Given the description of an element on the screen output the (x, y) to click on. 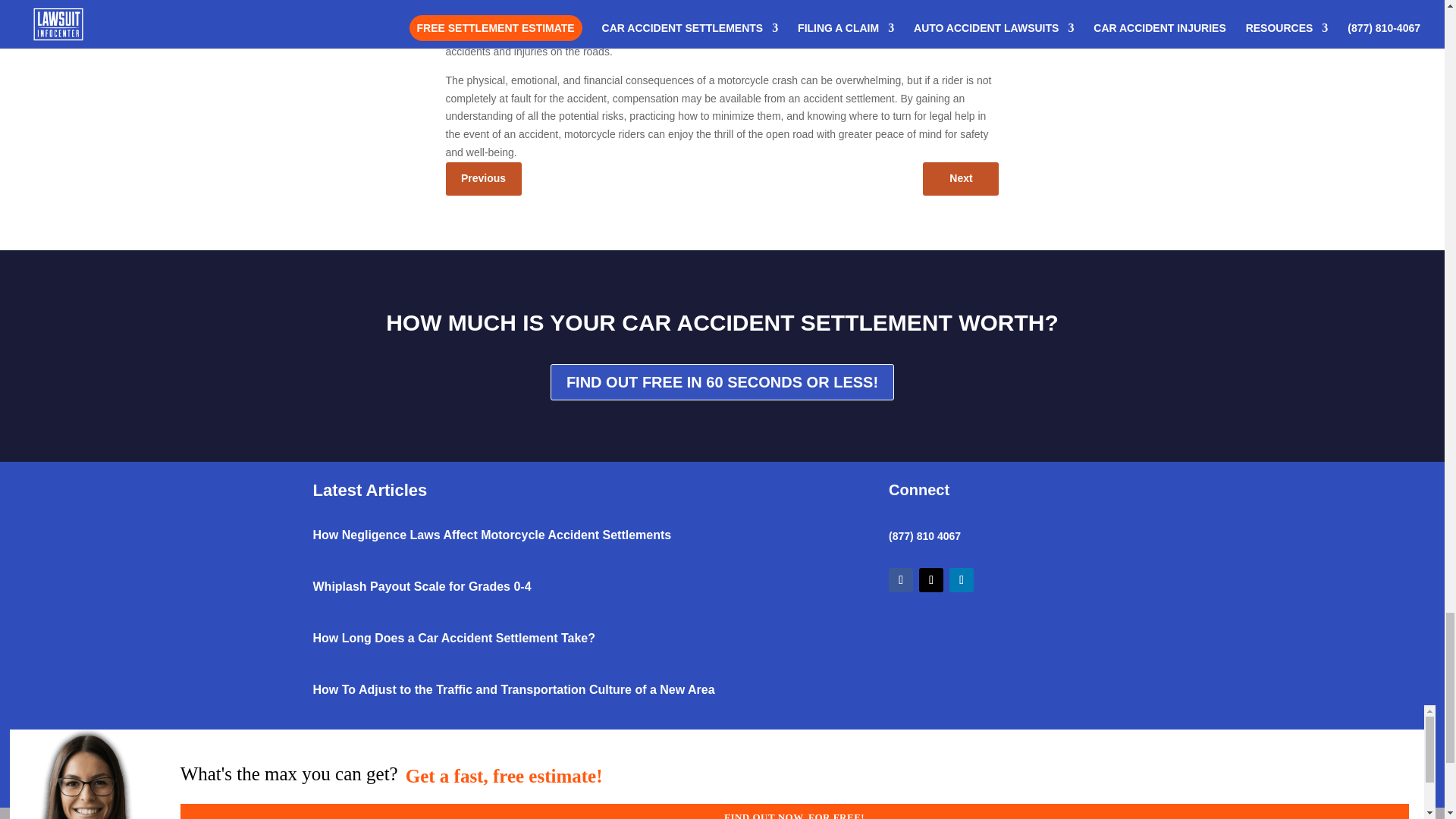
Follow on X (930, 580)
Follow on LinkedIn (961, 580)
Follow on Facebook (900, 580)
